Given the description of an element on the screen output the (x, y) to click on. 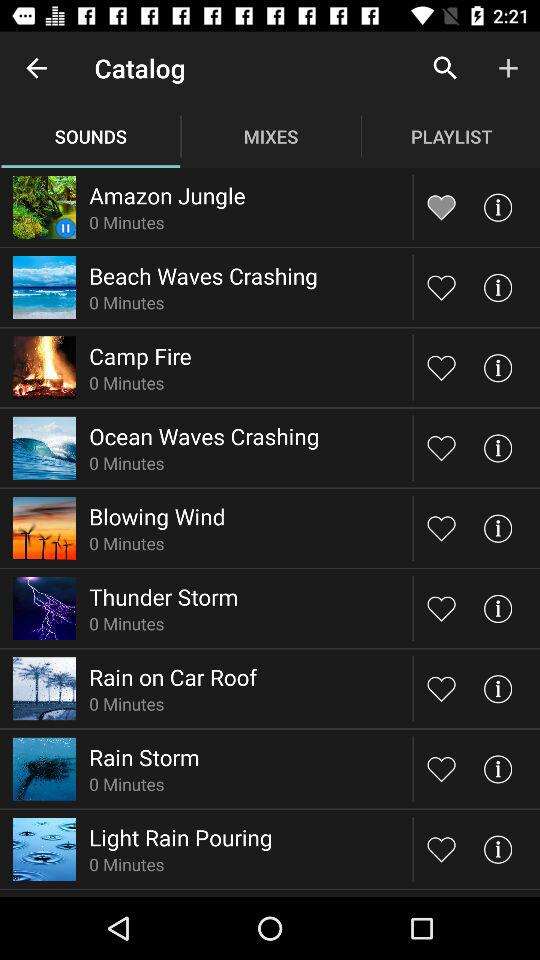
mark the choices you love (441, 768)
